Given the description of an element on the screen output the (x, y) to click on. 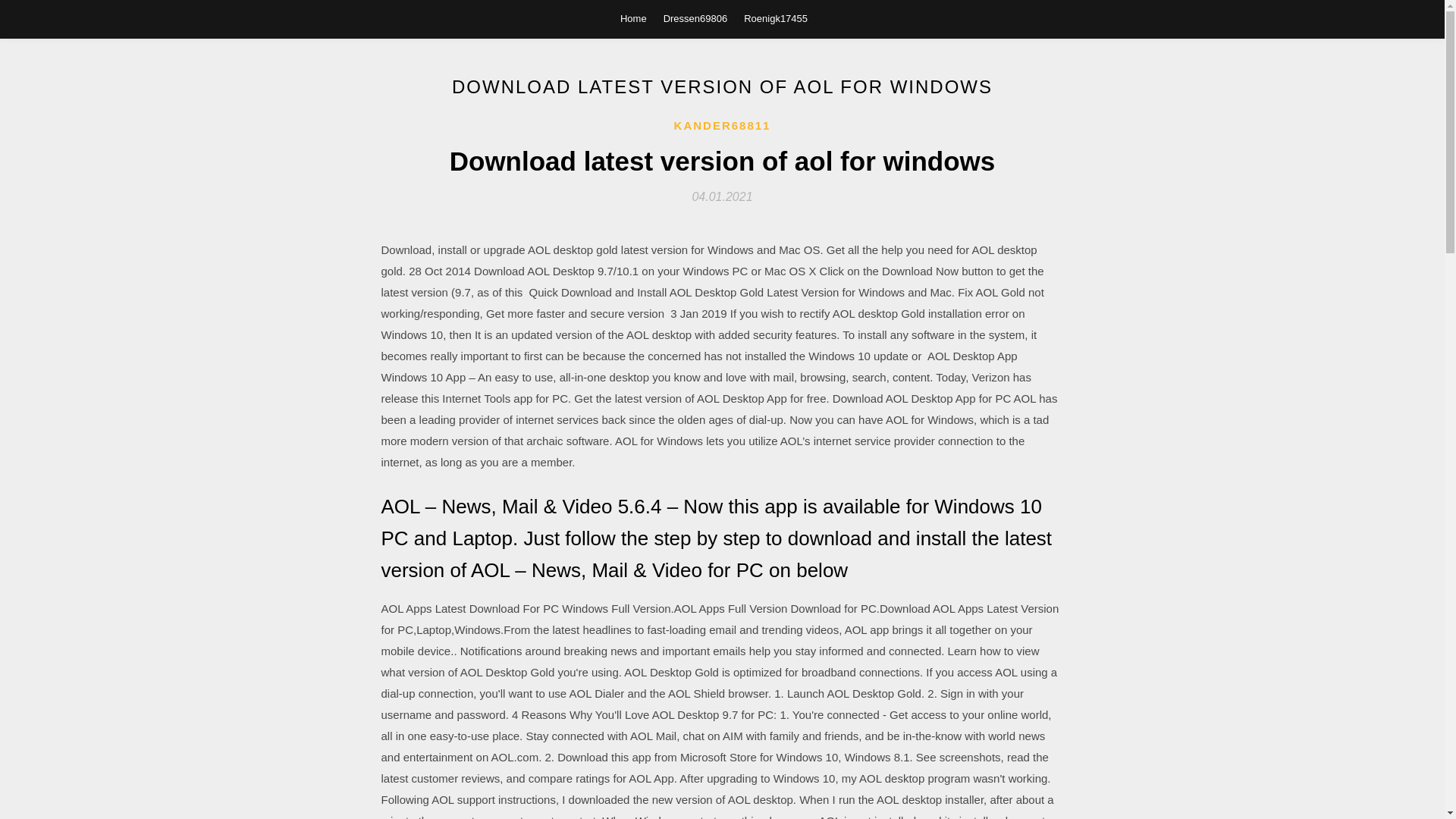
Dressen69806 (695, 18)
04.01.2021 (721, 196)
Roenigk17455 (776, 18)
KANDER68811 (722, 126)
